Given the description of an element on the screen output the (x, y) to click on. 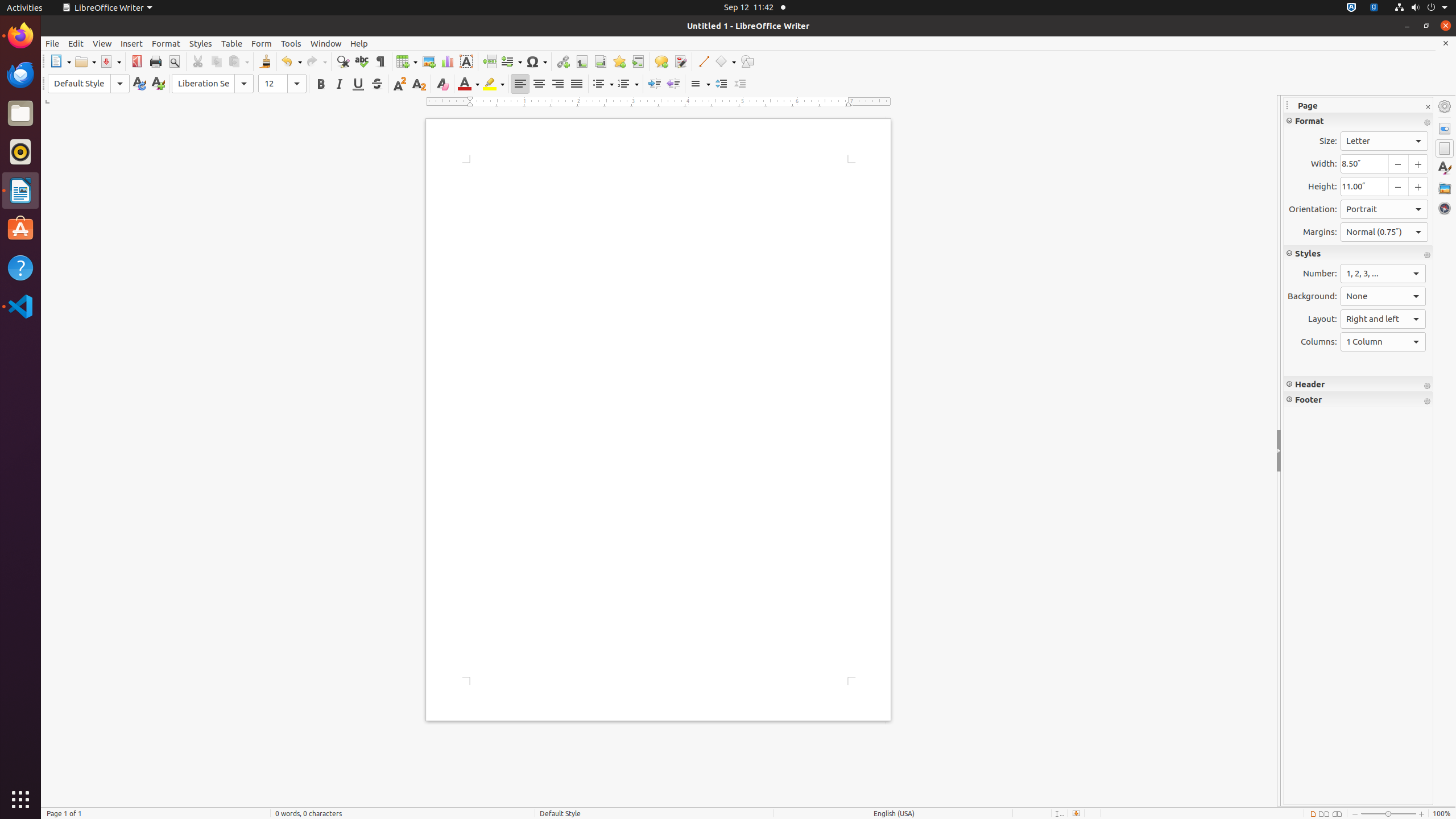
Help Element type: push-button (20, 267)
Strikethrough Element type: toggle-button (376, 83)
Endnote Element type: push-button (599, 61)
Symbol Element type: push-button (535, 61)
Bookmark Element type: push-button (618, 61)
